Given the description of an element on the screen output the (x, y) to click on. 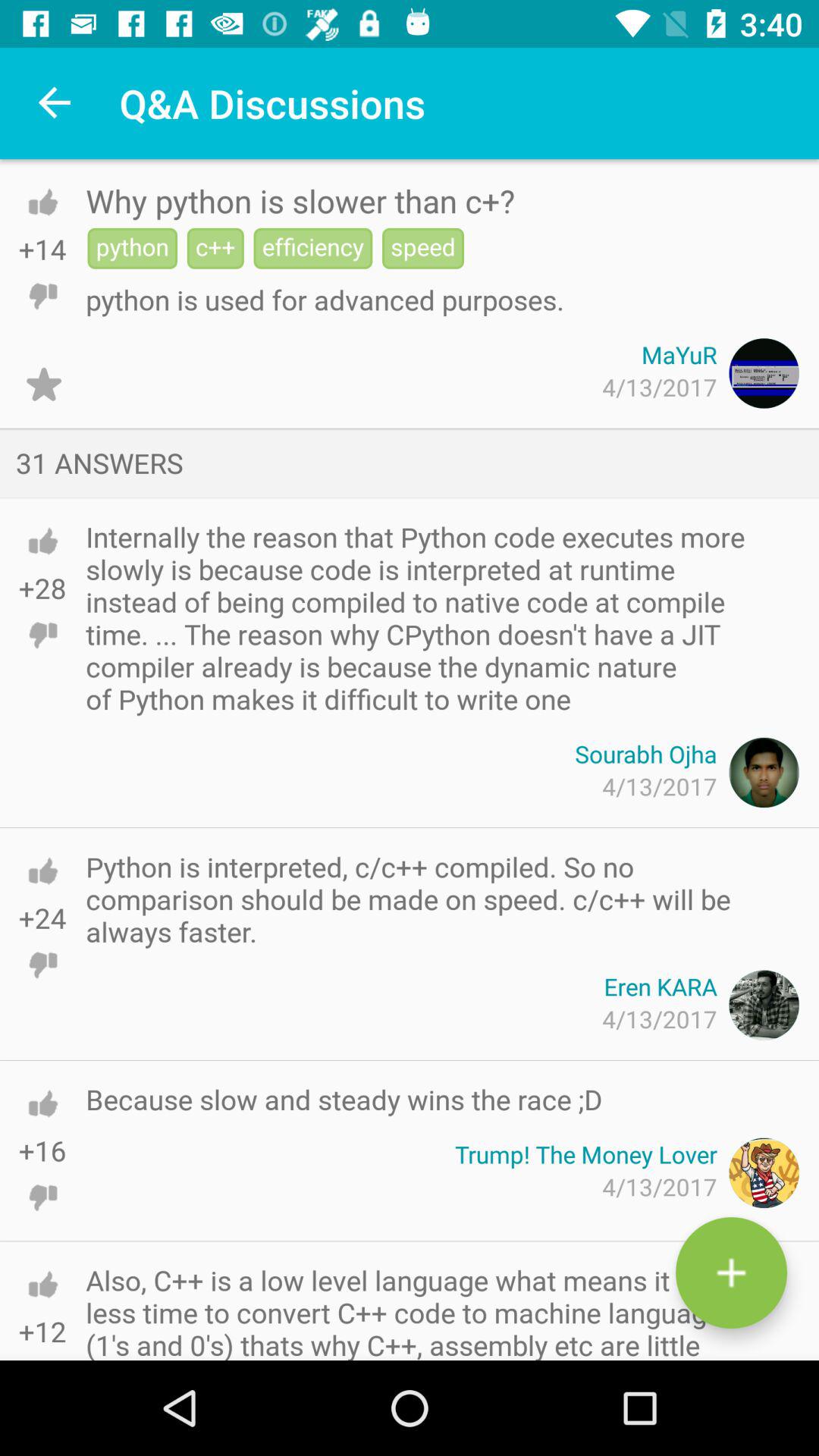
he can activate the simple voice command (42, 635)
